Given the description of an element on the screen output the (x, y) to click on. 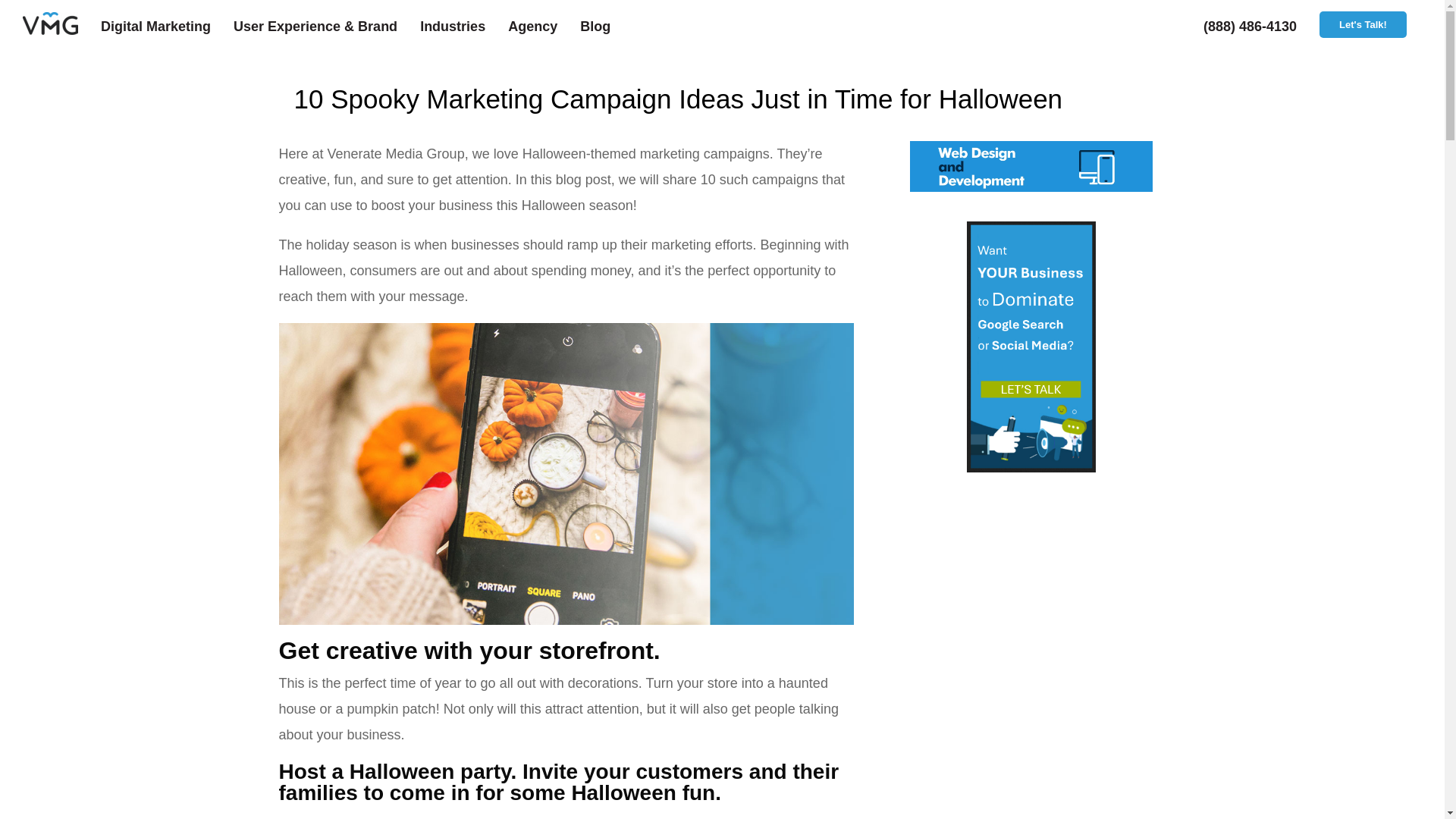
Industries (464, 26)
Digital Marketing (166, 26)
Professional Digital Marketing Agency (61, 26)
Blog (606, 26)
Agency (543, 26)
Let's Talk! (1362, 24)
Digital Marketing (166, 26)
Industries (464, 26)
Agency (543, 26)
